Given the description of an element on the screen output the (x, y) to click on. 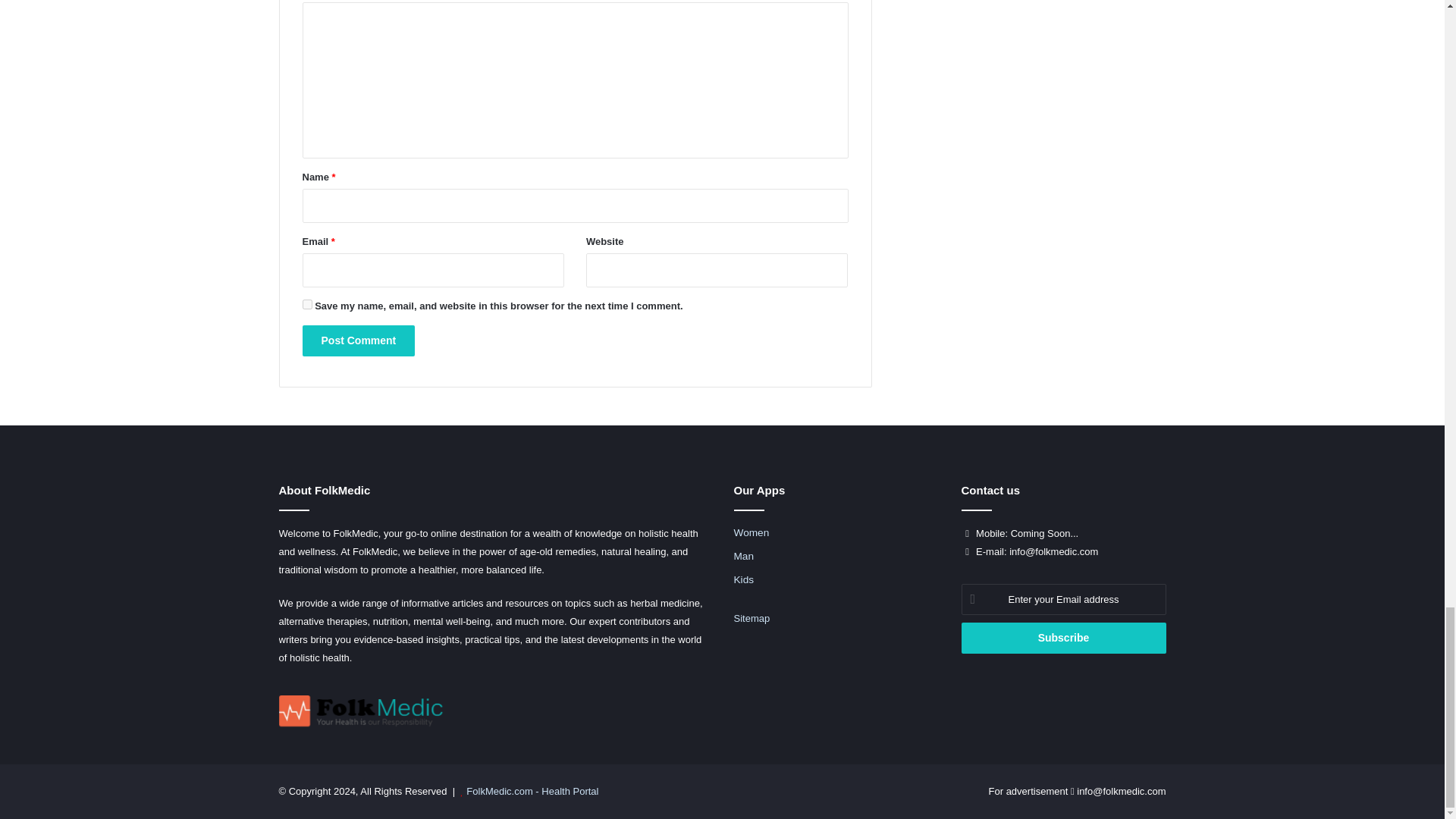
Subscribe (1063, 637)
yes (306, 304)
Post Comment (357, 340)
